Given the description of an element on the screen output the (x, y) to click on. 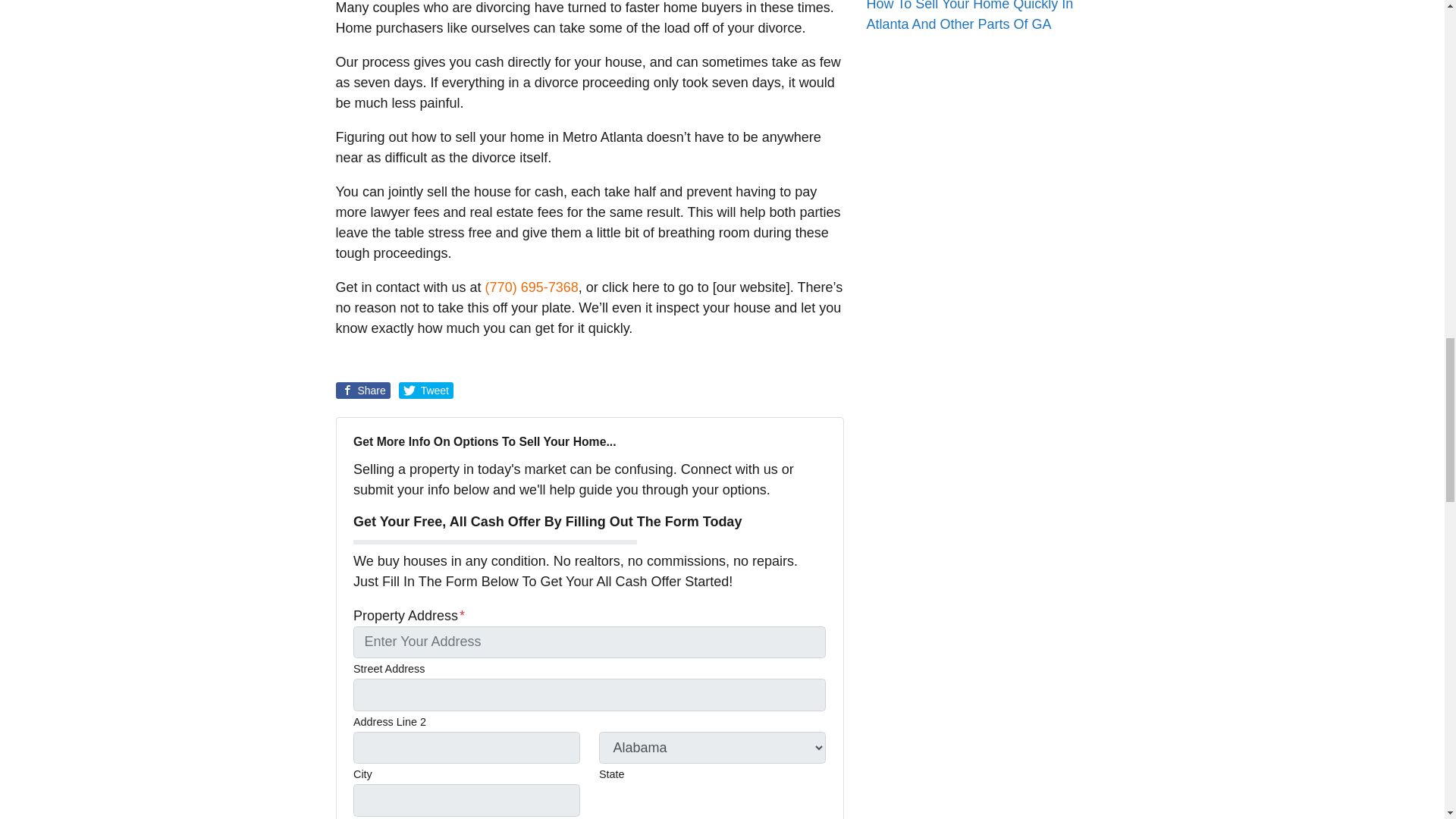
Share on Facebook (362, 390)
Share on Twitter (425, 390)
Share (362, 390)
Tweet (425, 390)
